Given the description of an element on the screen output the (x, y) to click on. 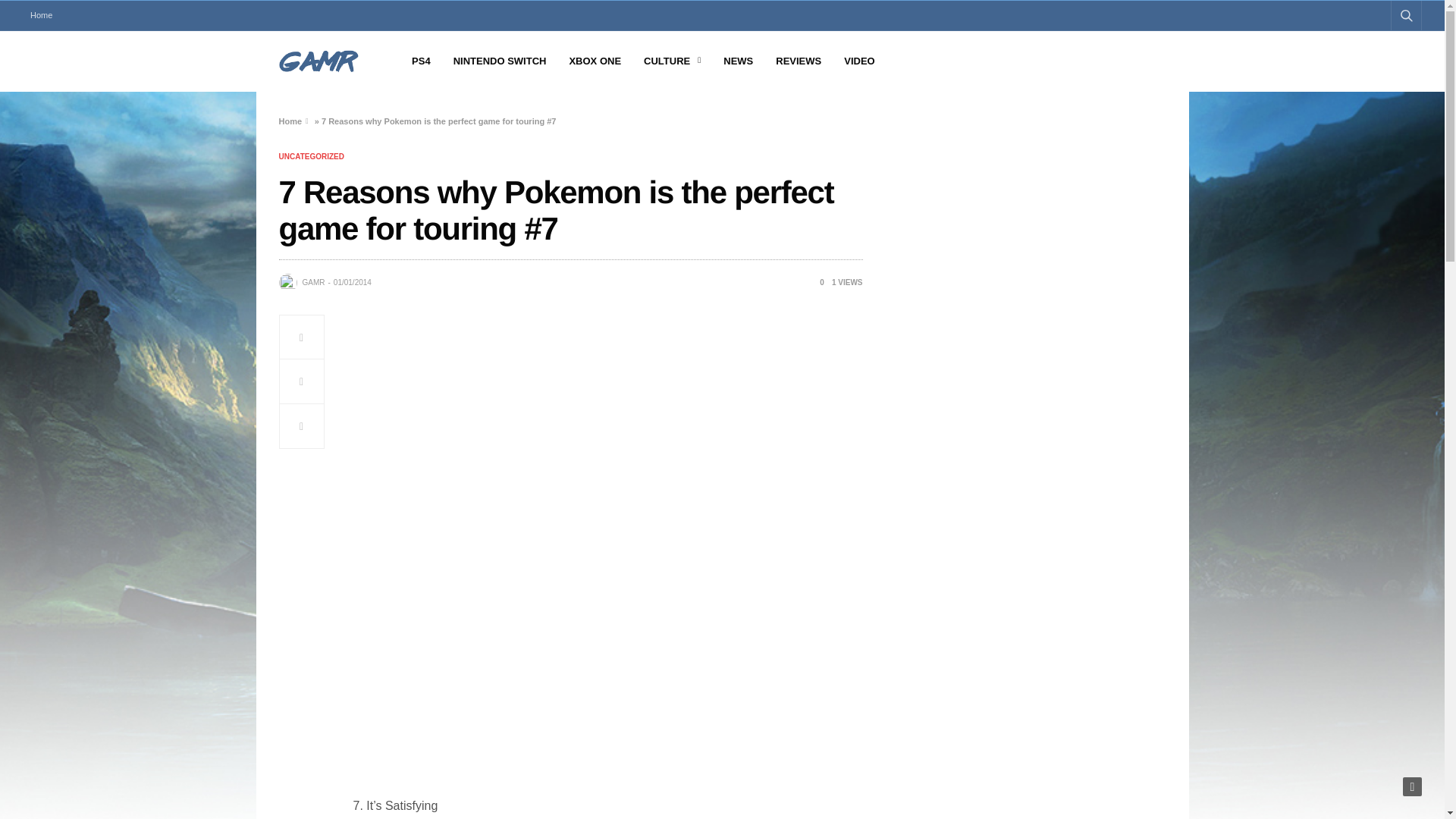
NEWS (737, 61)
UNCATEGORIZED (311, 156)
Home (41, 15)
0 (816, 282)
GAMR (312, 282)
Search (1386, 51)
Home (290, 121)
NINTENDO SWITCH (499, 61)
CULTURE (671, 61)
Posts by GAMR (312, 282)
PS4 (421, 61)
XBOX ONE (595, 61)
Uncategorized (311, 156)
VIDEO (859, 61)
REVIEWS (798, 61)
